Given the description of an element on the screen output the (x, y) to click on. 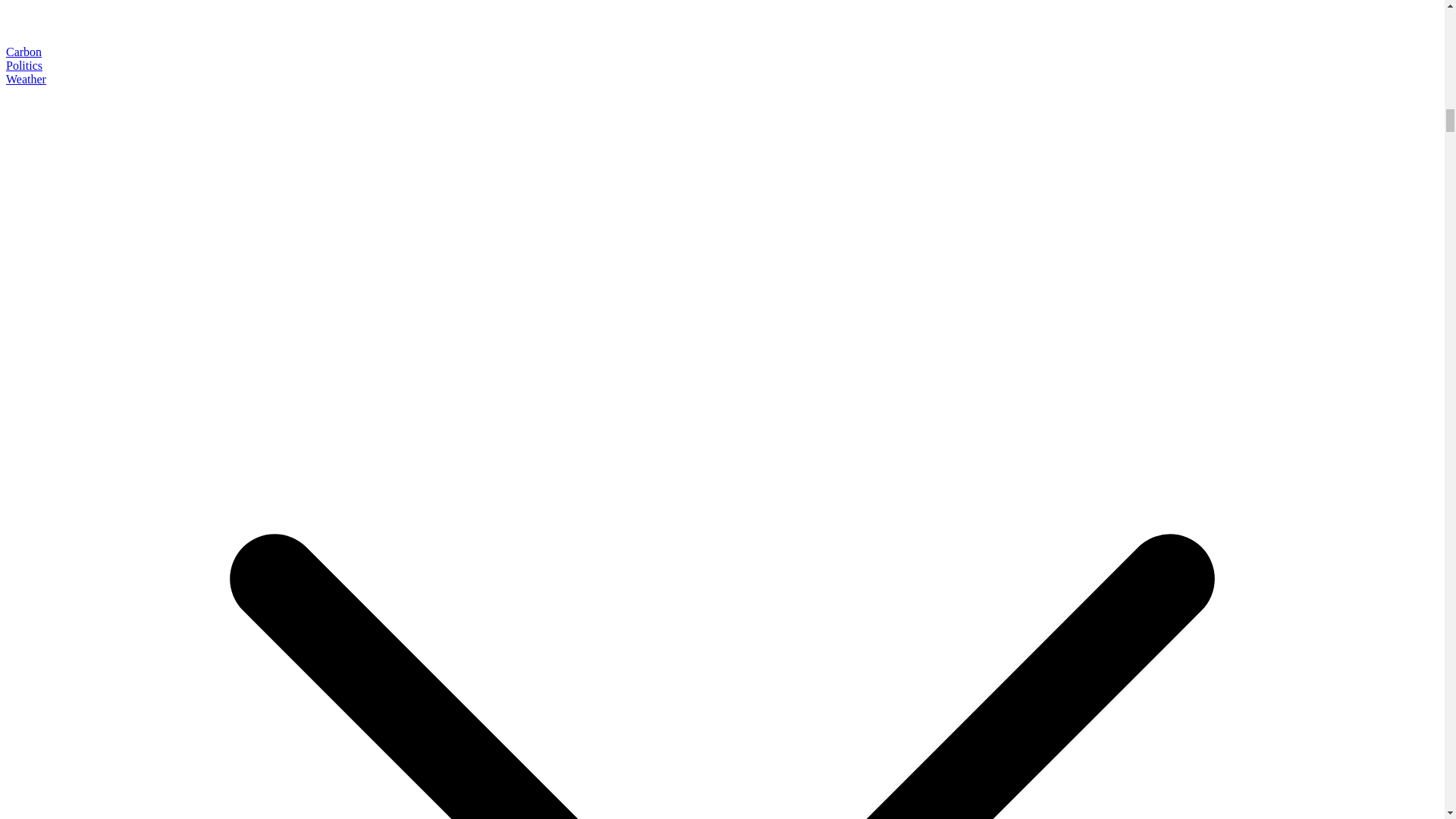
Weather (25, 78)
Politics (23, 65)
Carbon (23, 51)
